Given the description of an element on the screen output the (x, y) to click on. 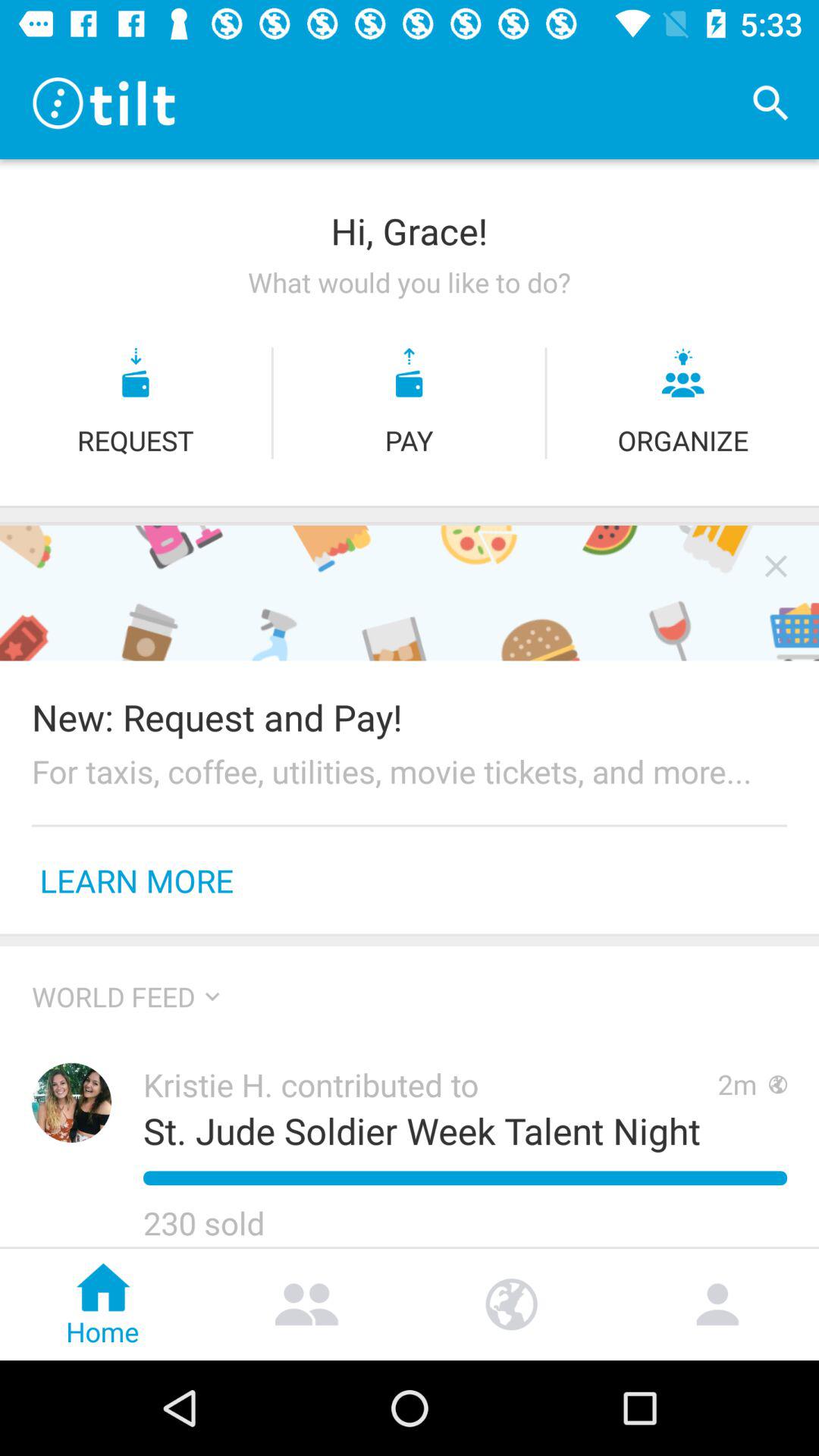
turn off item above world feed (409, 941)
